Given the description of an element on the screen output the (x, y) to click on. 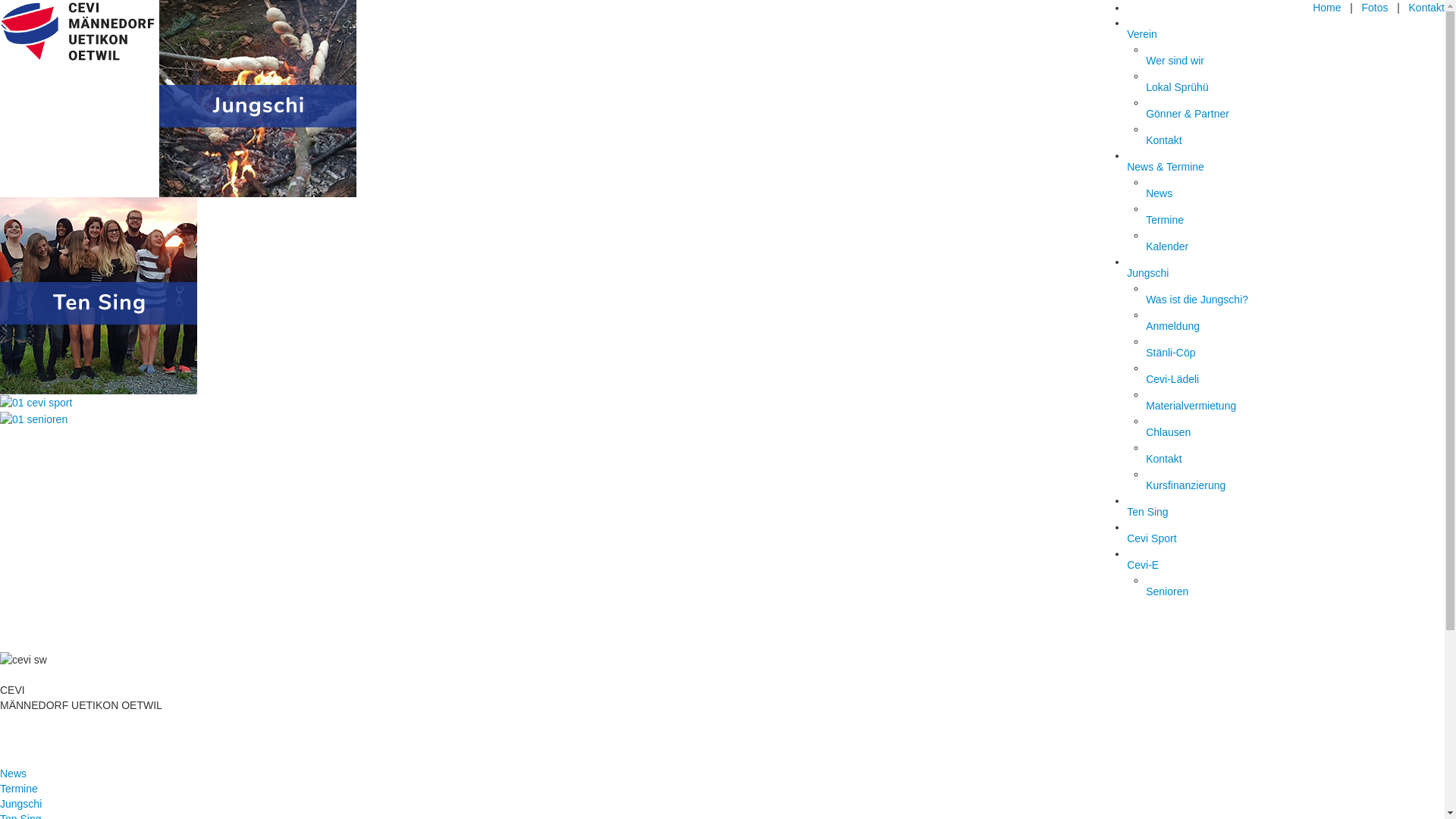
Anmeldung Element type: text (1228, 327)
News & Termine Element type: text (1219, 167)
News Element type: text (13, 773)
Kursfinanzierung Element type: text (1228, 486)
Cevi-E Element type: text (1219, 566)
Ten Sing Element type: text (1219, 512)
Kalender Element type: text (1228, 247)
Jungschi Element type: text (20, 803)
Was ist die Jungschi? Element type: text (1228, 300)
Senioren Element type: text (1228, 592)
Termine Element type: text (18, 788)
Chlausen Element type: text (1228, 433)
Kontakt Element type: text (1228, 459)
Jungschi Element type: text (1219, 274)
Kontakt Element type: text (1426, 7)
Termine Element type: text (1228, 221)
Verein Element type: text (1219, 35)
Fotos Element type: text (1374, 7)
Materialvermietung Element type: text (1228, 406)
Kontakt Element type: text (1228, 141)
Cevi Sport Element type: text (1219, 539)
News Element type: text (1228, 194)
Home Element type: text (1326, 7)
Wer sind wir Element type: text (1228, 61)
